Given the description of an element on the screen output the (x, y) to click on. 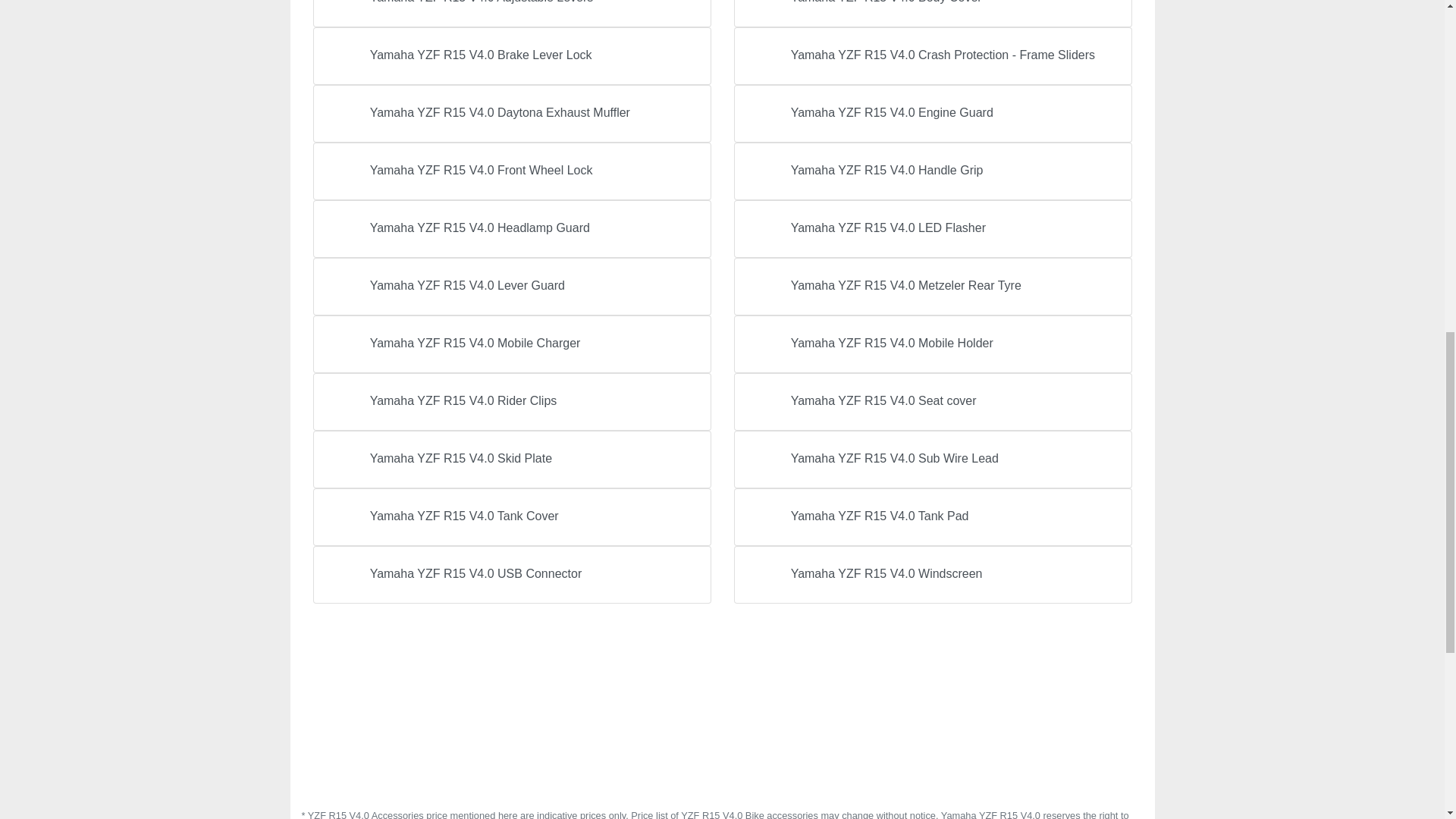
Yamaha YZF R15 V4.0 Engine Guard (932, 113)
Yamaha YZF R15 V4.0 Seat cover (932, 401)
Yamaha YZF R15 V4.0 Adjustable Levers (511, 13)
Yamaha YZF R15 V4.0 Brake Lever Lock (511, 56)
Yamaha YZF R15 V4.0 Body Cover (932, 13)
Yamaha YZF R15 V4.0 Rider Clips (511, 401)
Yamaha YZF R15 V4.0 Mobile Holder (932, 344)
Yamaha YZF R15 V4.0 Windscreen (932, 574)
Yamaha YZF R15 V4.0 USB Connector (511, 574)
Yamaha YZF R15 V4.0 Tank Cover (511, 517)
